Given the description of an element on the screen output the (x, y) to click on. 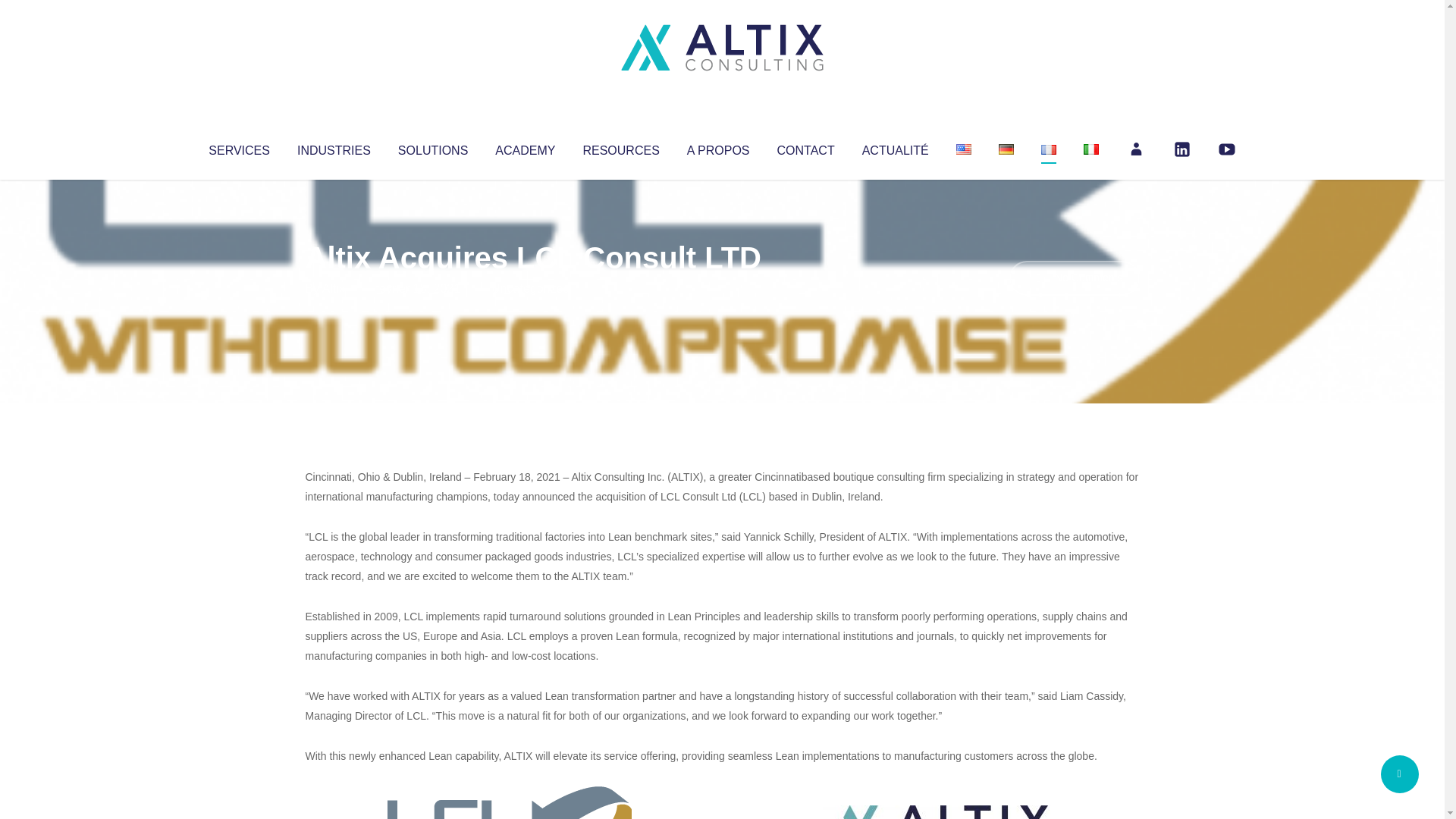
RESOURCES (620, 146)
SOLUTIONS (432, 146)
Uncategorized (530, 287)
Altix (333, 287)
A PROPOS (718, 146)
No Comments (1073, 278)
SERVICES (238, 146)
ACADEMY (524, 146)
INDUSTRIES (334, 146)
Articles par Altix (333, 287)
